Given the description of an element on the screen output the (x, y) to click on. 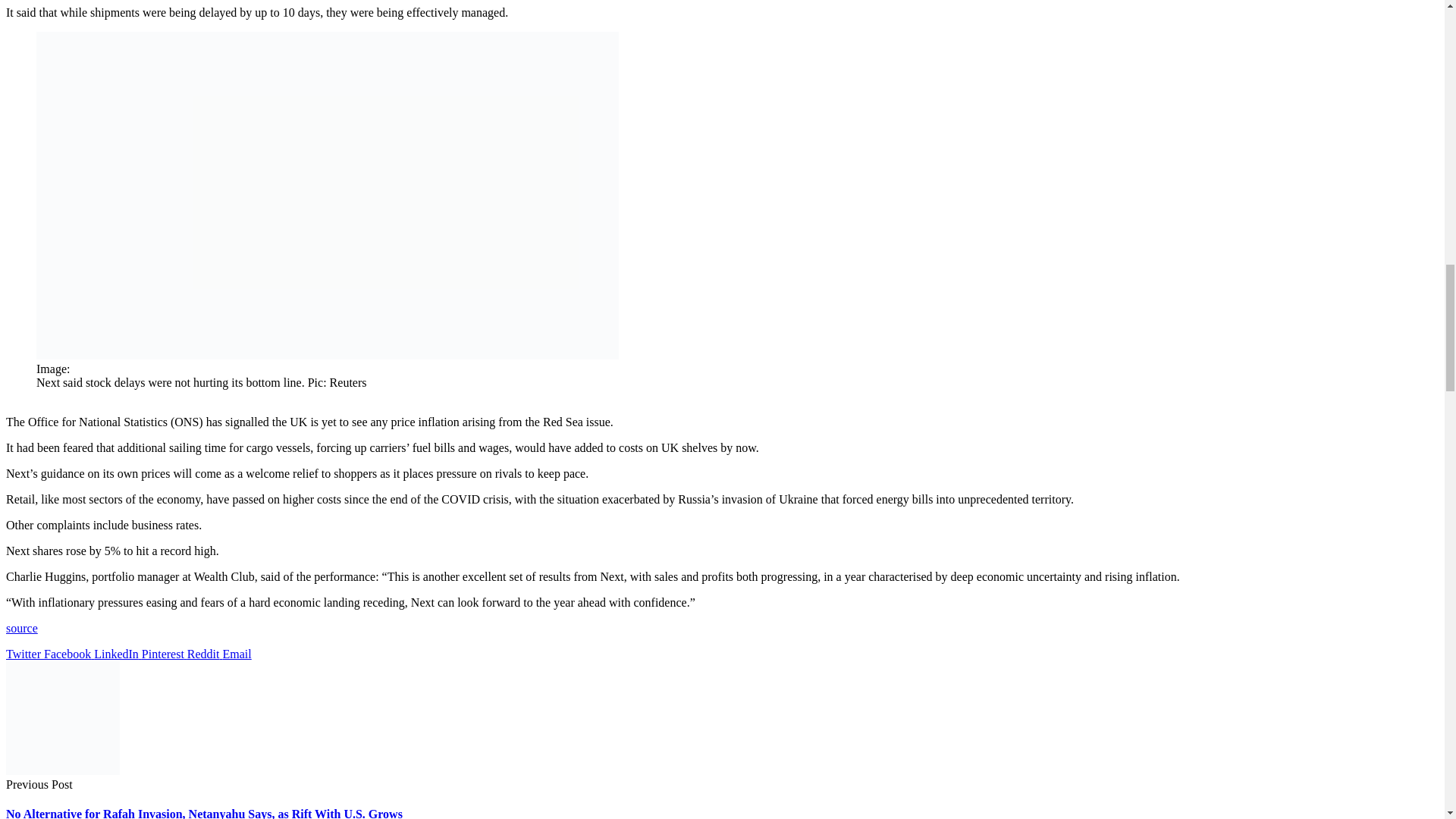
Reddit (204, 653)
Share on Reddit (204, 653)
Facebook (68, 653)
Pin this! (164, 653)
Tweet This! (24, 653)
source (21, 627)
Pinterest (164, 653)
Share on Facebook (68, 653)
Email (236, 653)
LinkedIn (117, 653)
Share on Email (236, 653)
Share on LinkedIn (117, 653)
Twitter (24, 653)
